Given the description of an element on the screen output the (x, y) to click on. 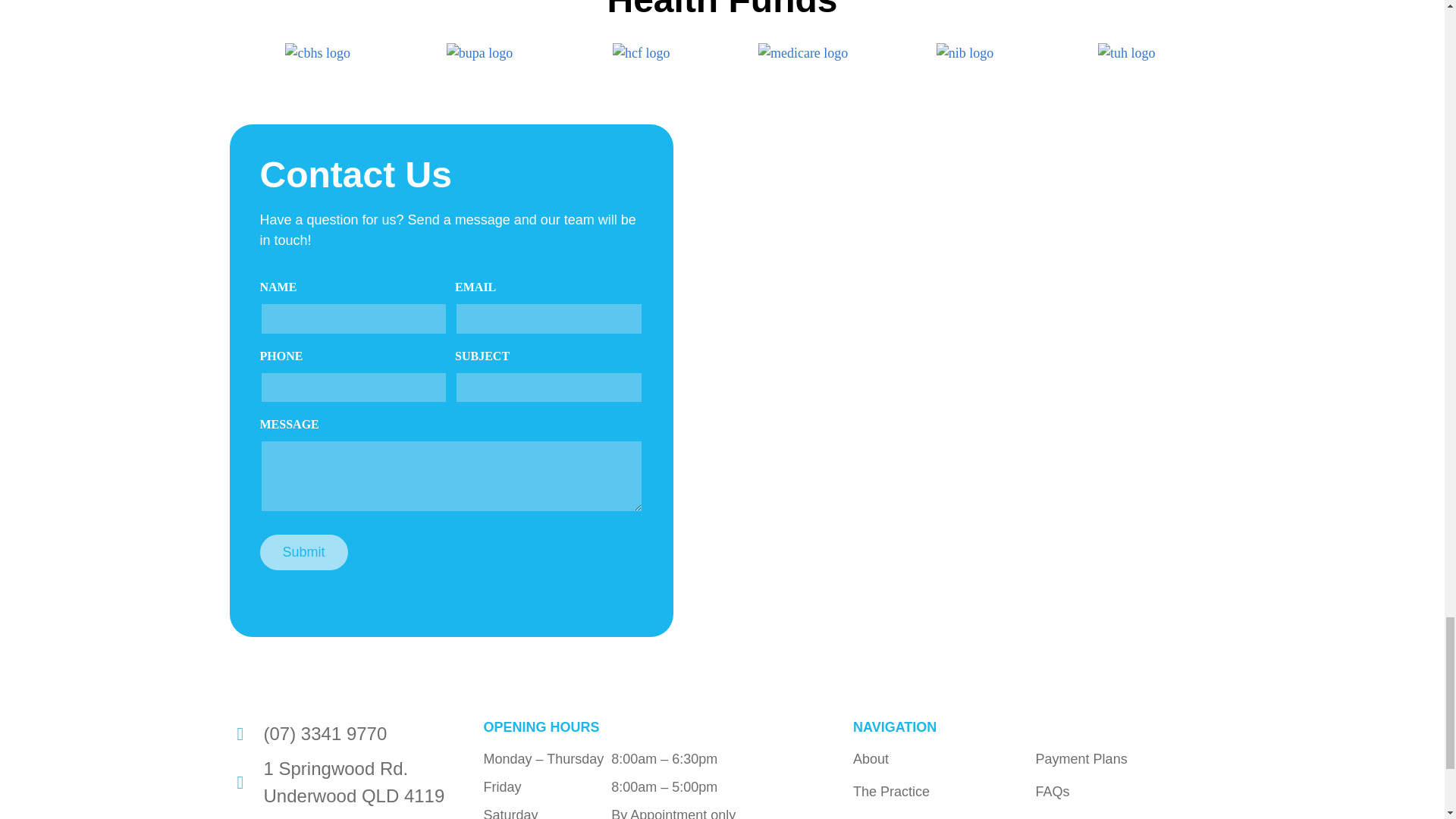
Submit (303, 552)
